Given the description of an element on the screen output the (x, y) to click on. 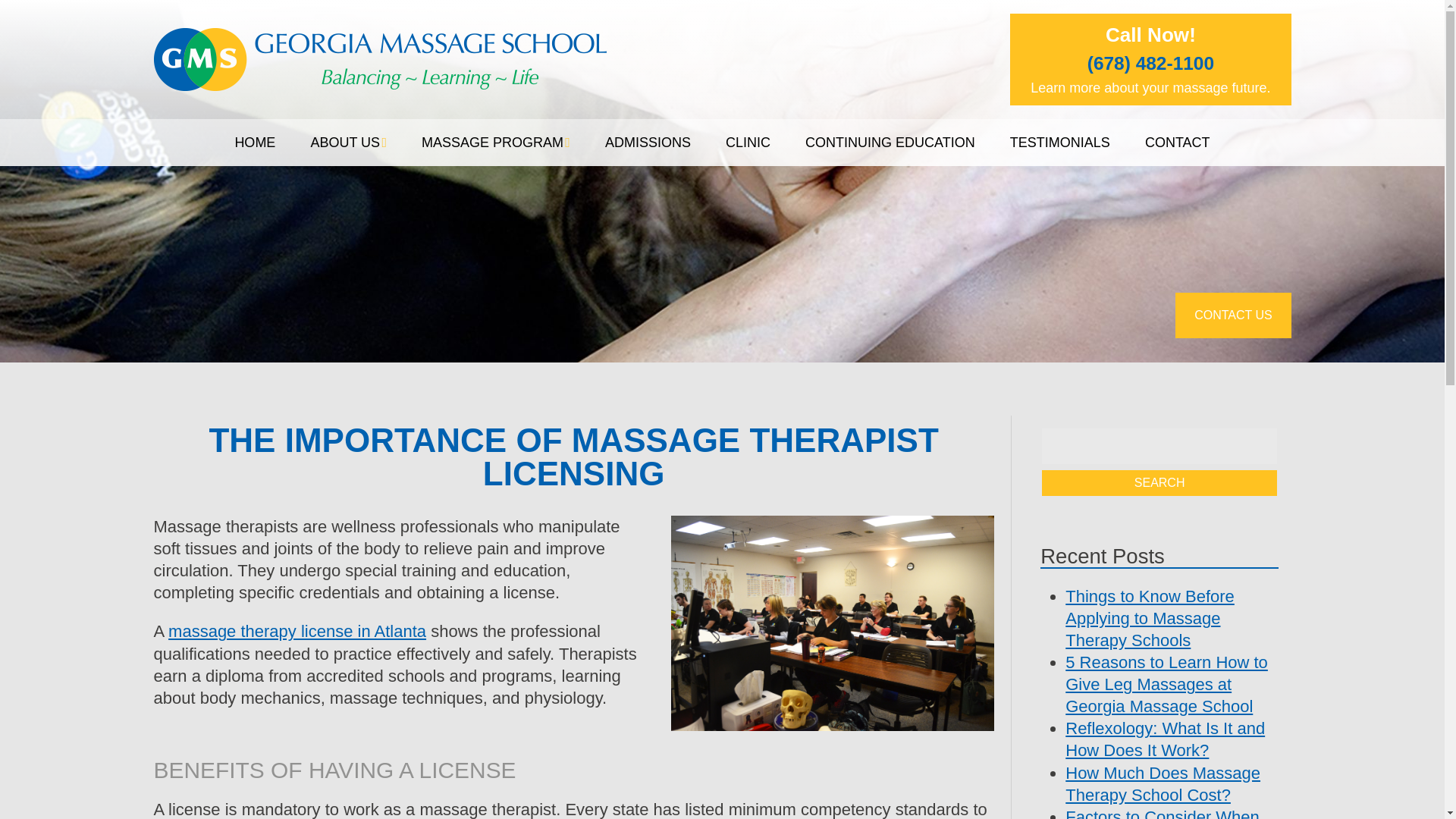
Search (1159, 483)
CLINIC (747, 142)
ADMISSIONS (647, 142)
MASSAGE PROGRAM (495, 142)
Call Now! (1150, 34)
CONTINUING EDUCATION (890, 142)
HOME (254, 142)
ABOUT US (348, 142)
